Given the description of an element on the screen output the (x, y) to click on. 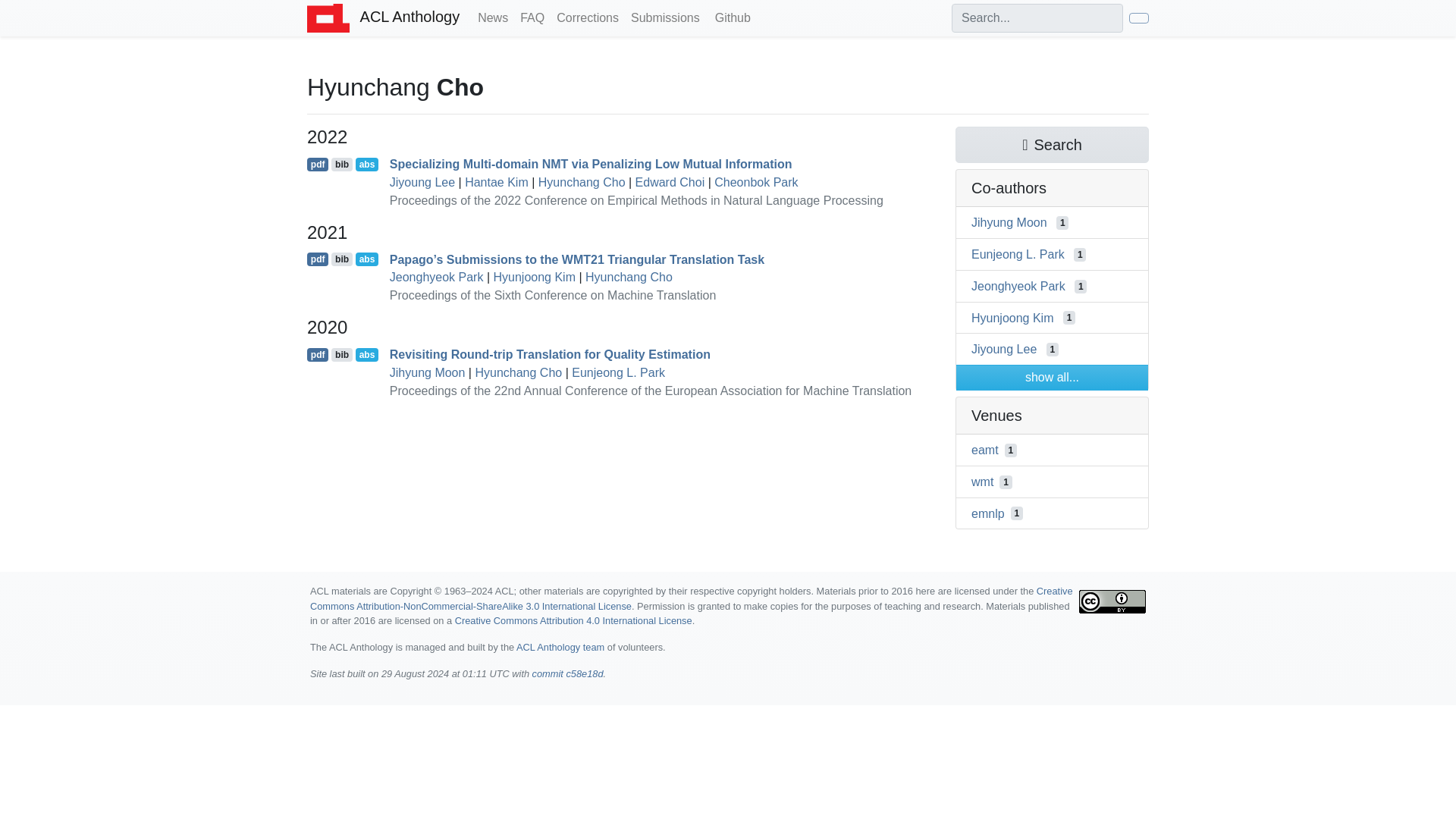
pdf (318, 354)
Open PDF (318, 164)
Jiyoung Lee (422, 182)
bib (341, 354)
Eunjeong L. Park (1017, 254)
Proceedings of the Sixth Conference on Machine Translation (553, 295)
Github (731, 18)
pdf (318, 259)
ACL Anthology (383, 18)
Show Abstract (366, 259)
